Given the description of an element on the screen output the (x, y) to click on. 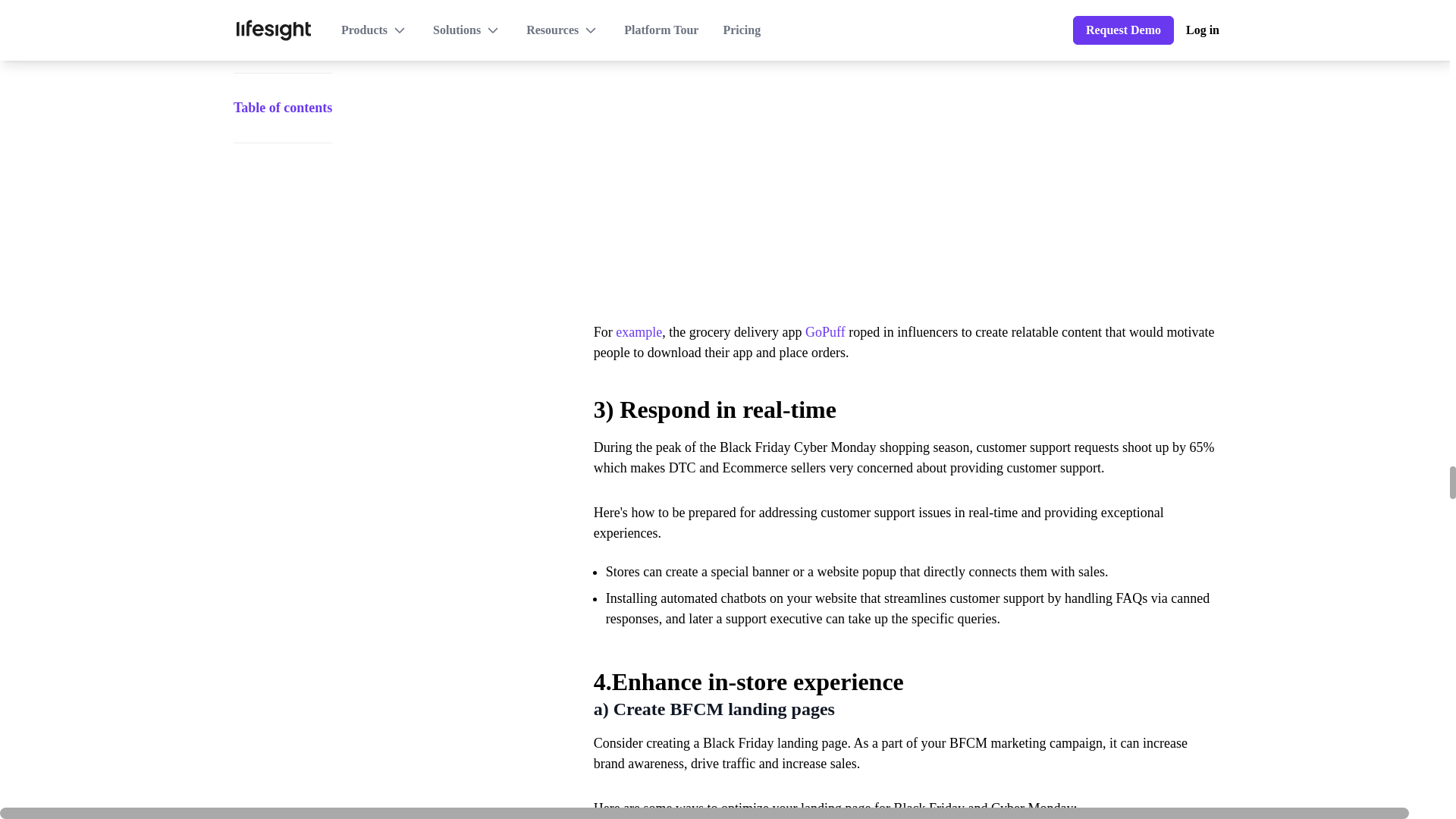
example (638, 331)
4.Enhance in-store experience (904, 672)
GoPuff (825, 331)
